Given the description of an element on the screen output the (x, y) to click on. 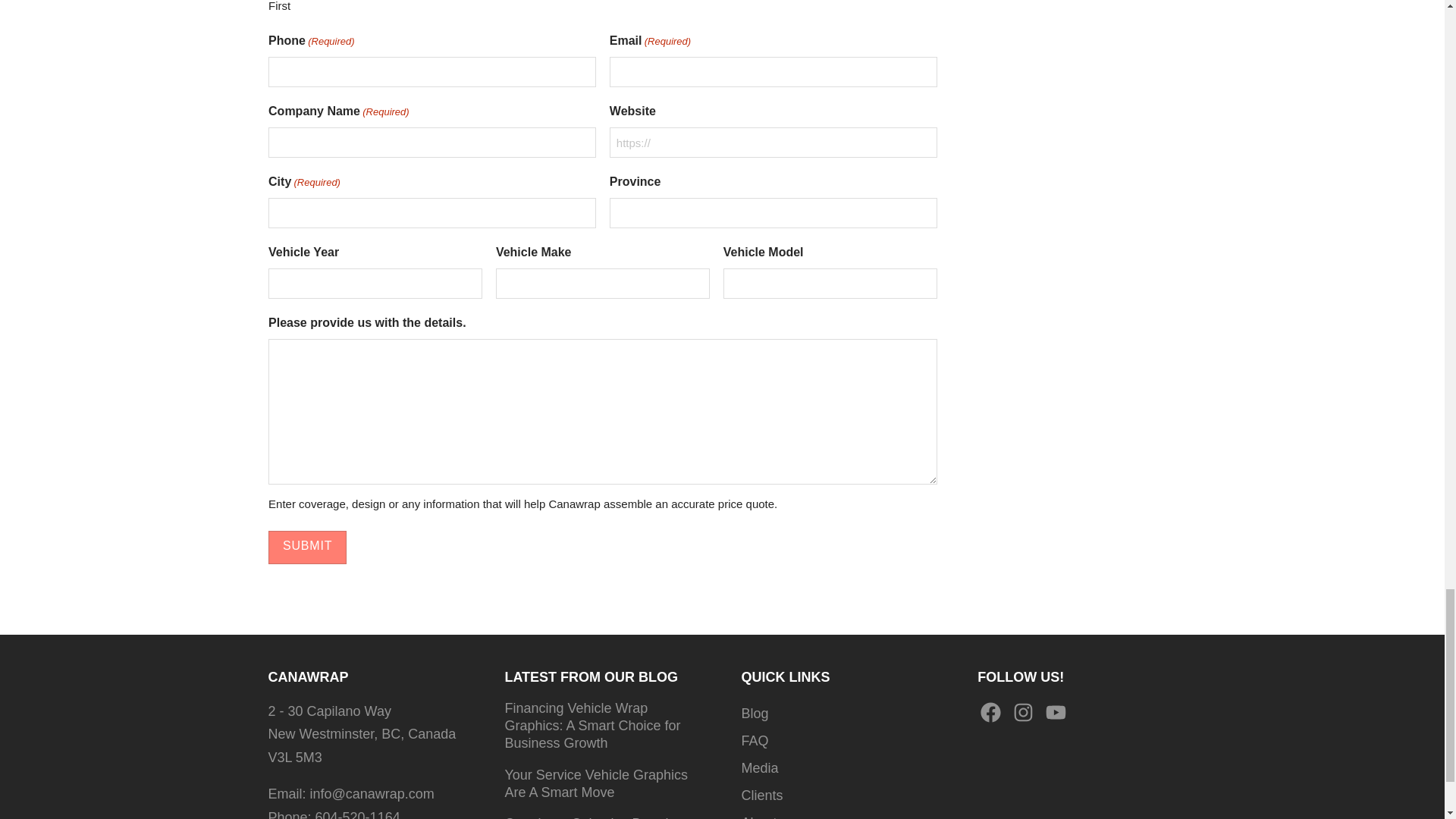
Submit (306, 547)
